Given the description of an element on the screen output the (x, y) to click on. 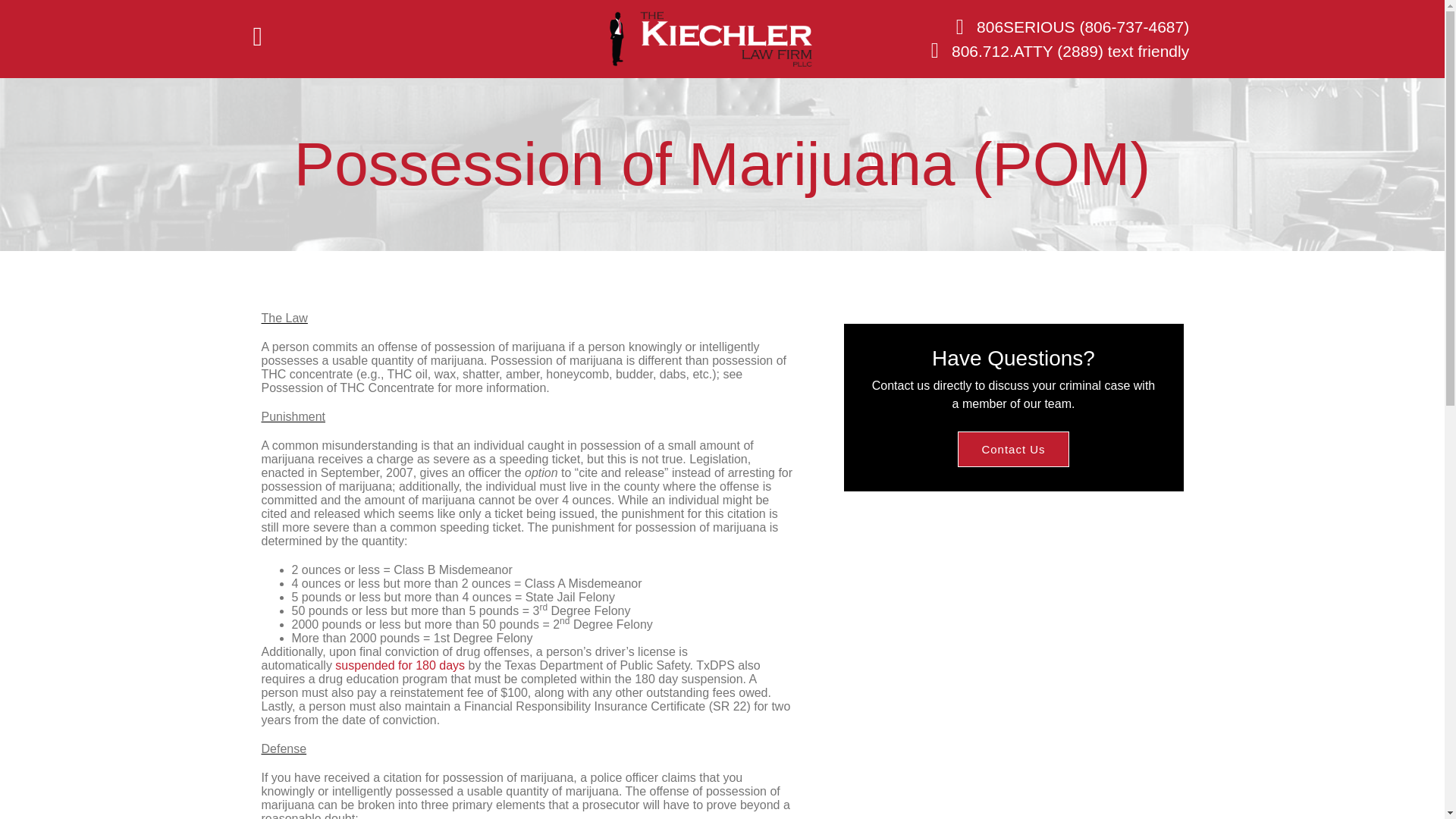
Contact Us (1013, 448)
suspended for 180 days (399, 665)
Logo-6 (710, 38)
